Given the description of an element on the screen output the (x, y) to click on. 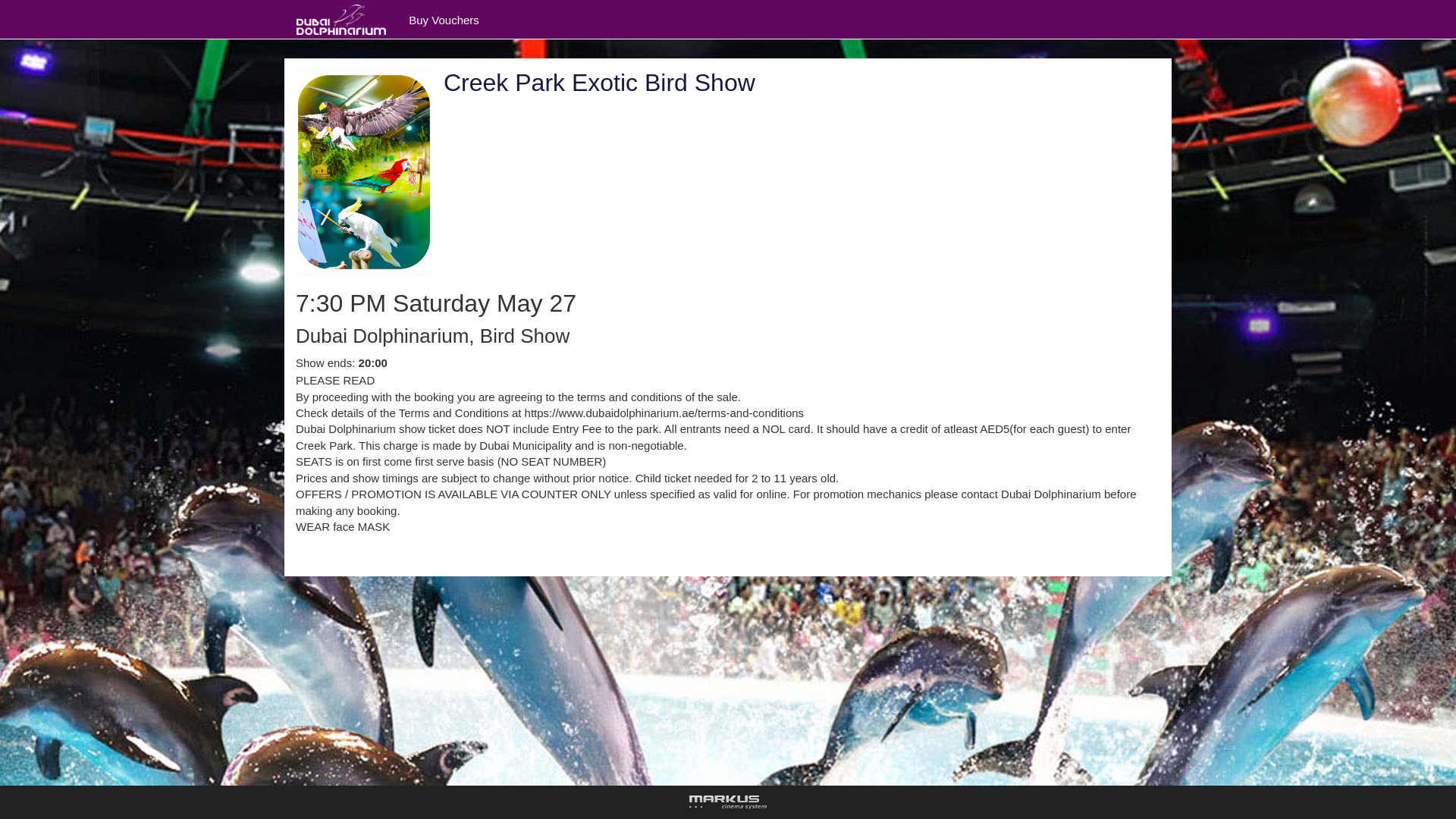
Creek Park Exotic Bird Show (599, 82)
Buy Vouchers (443, 19)
